Given the description of an element on the screen output the (x, y) to click on. 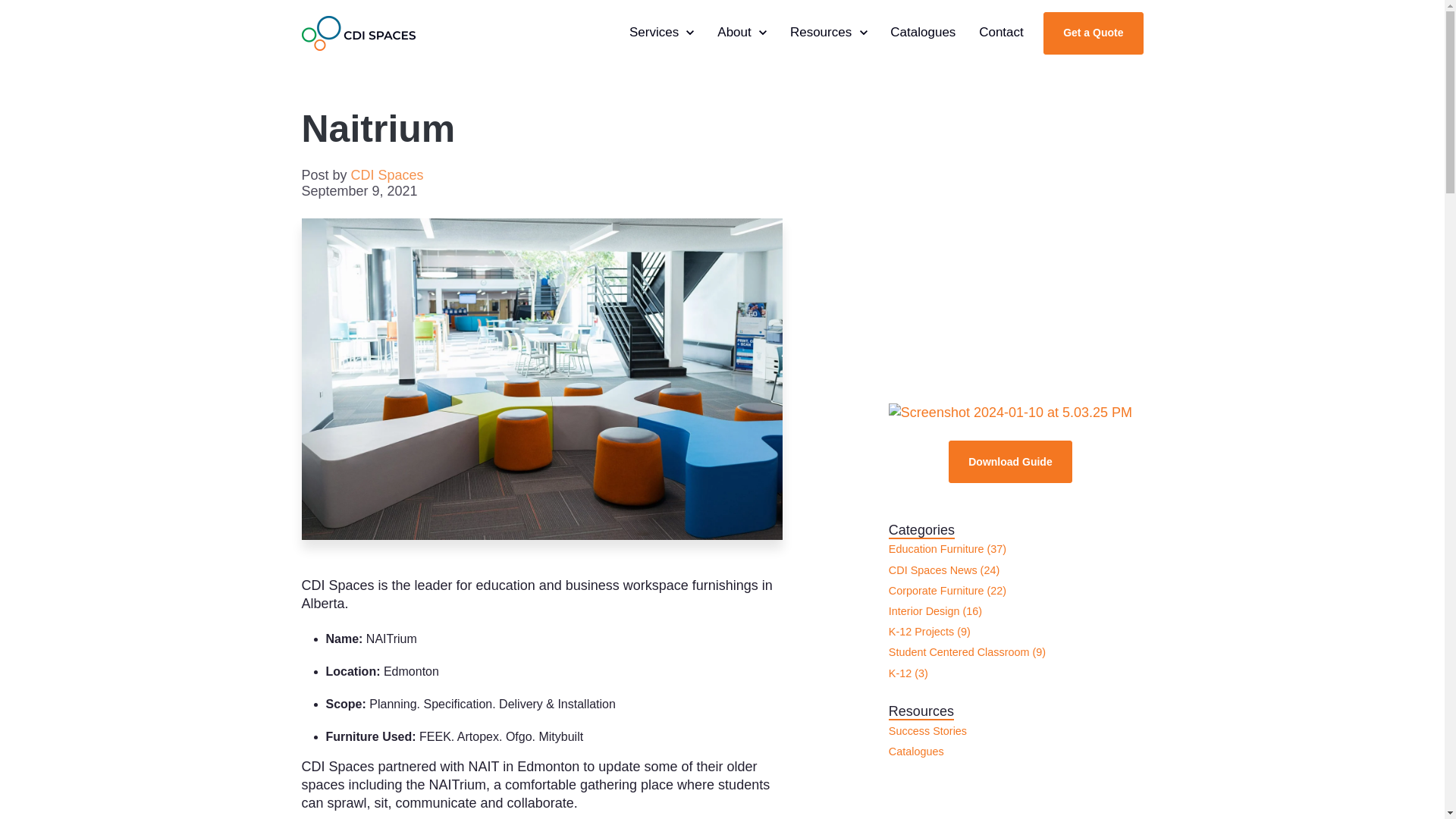
CDI Spaces (828, 33)
Catalogues (741, 33)
Contact (386, 174)
Get a Quote (662, 33)
